Given the description of an element on the screen output the (x, y) to click on. 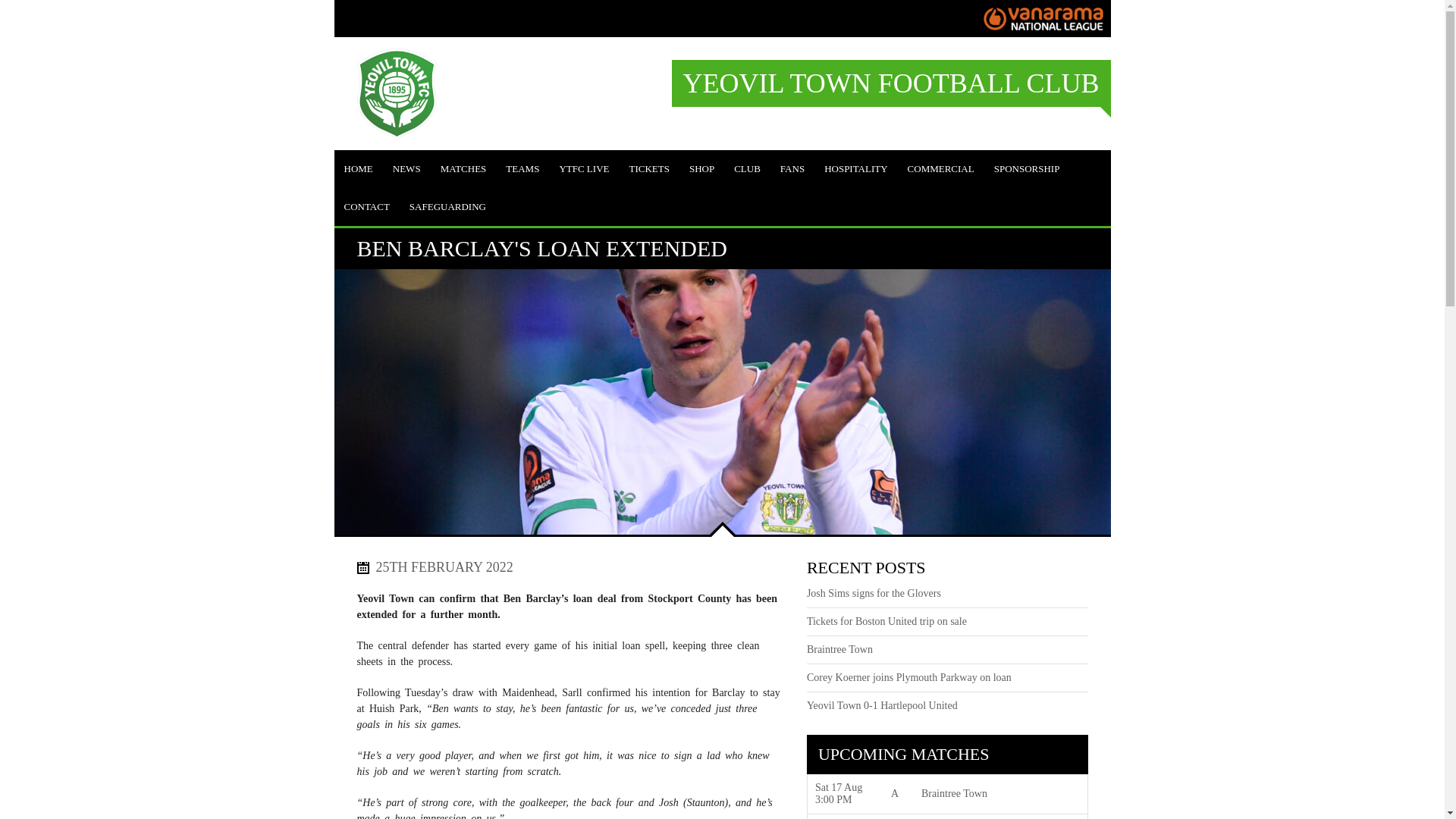
NEWS (406, 168)
FANS (791, 168)
HOSPITALITY (854, 168)
TICKETS (648, 168)
SHOP (701, 168)
MATCHES (463, 168)
COMMERCIAL (941, 168)
CLUB (746, 168)
TEAMS (522, 168)
HOME (357, 168)
